Given the description of an element on the screen output the (x, y) to click on. 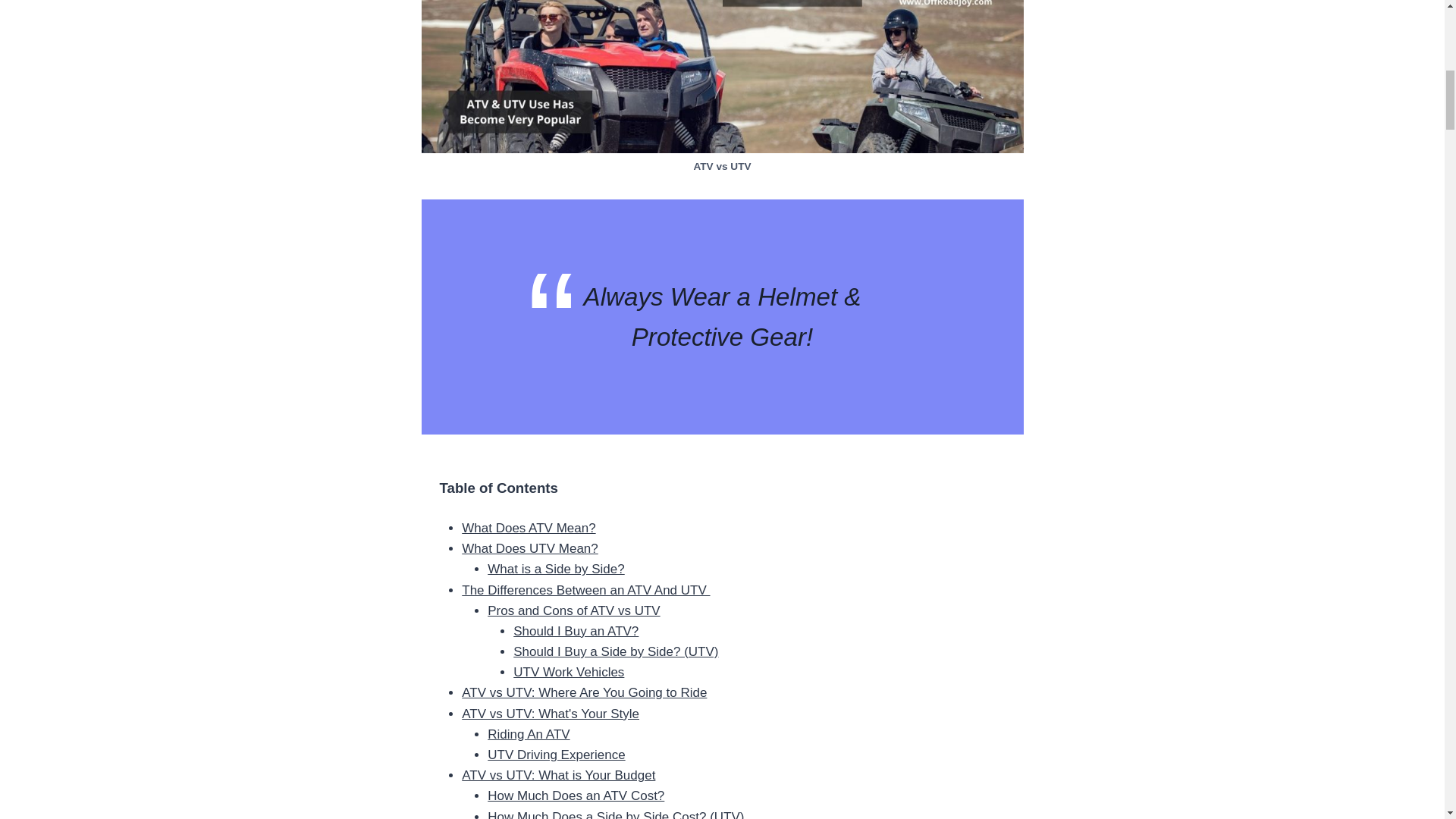
UTV Driving Experience (555, 754)
ATV vs UTV: What's Your Style (550, 713)
What Does UTV Mean? (529, 548)
Pros and Cons of ATV vs UTV (573, 610)
The Differences Between an ATV And UTV  (585, 589)
Riding An ATV (528, 734)
What Does ATV Mean? (528, 527)
What is a Side by Side? (555, 568)
Should I Buy an ATV? (576, 631)
How Much Does an ATV Cost? (575, 795)
